Given the description of an element on the screen output the (x, y) to click on. 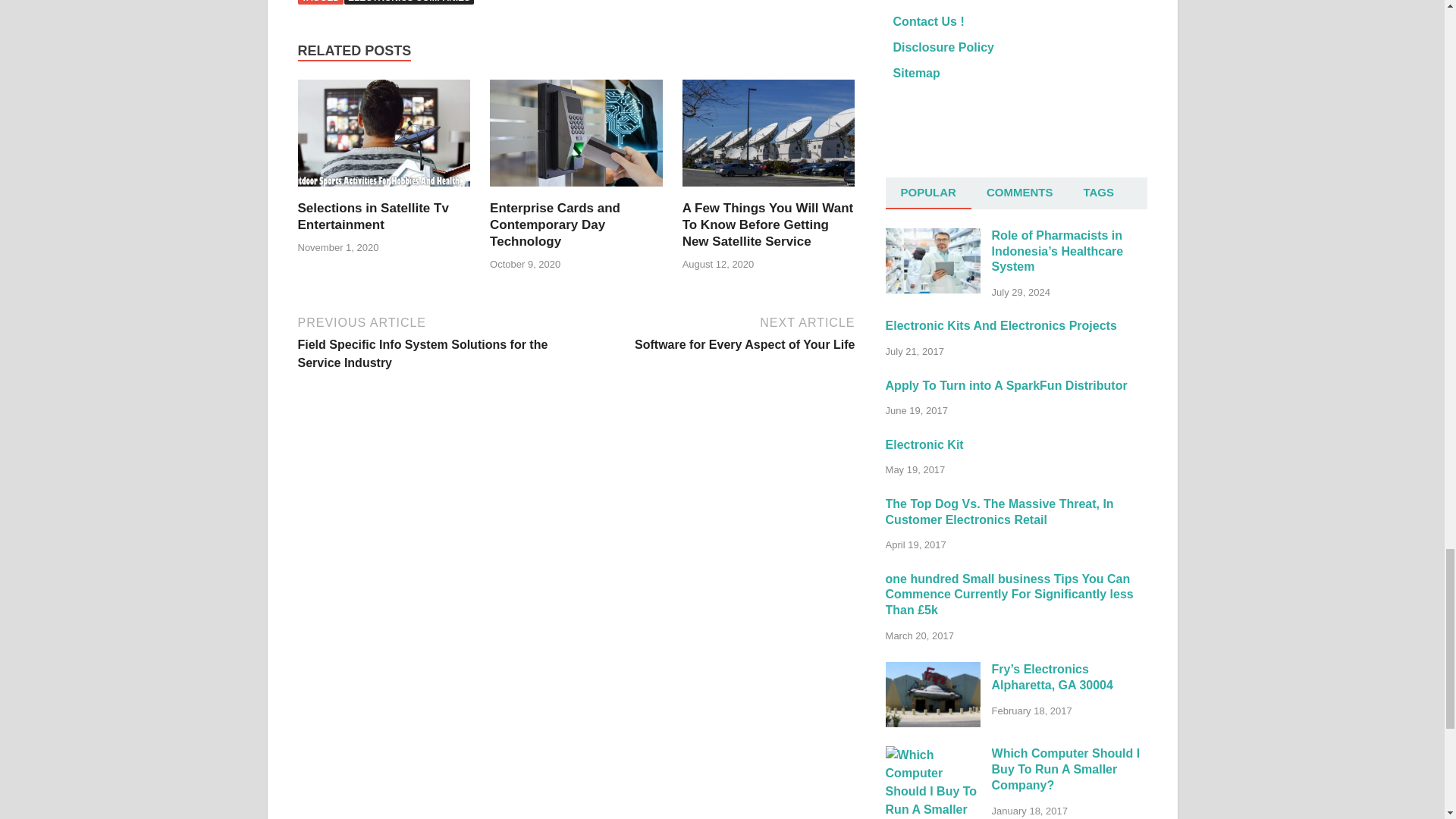
Enterprise Cards and Contemporary Day Technology (575, 190)
Selections in Satellite Tv Entertainment (383, 190)
Enterprise Cards and Contemporary Day Technology (554, 224)
Selections in Satellite Tv Entertainment (372, 215)
